Given the description of an element on the screen output the (x, y) to click on. 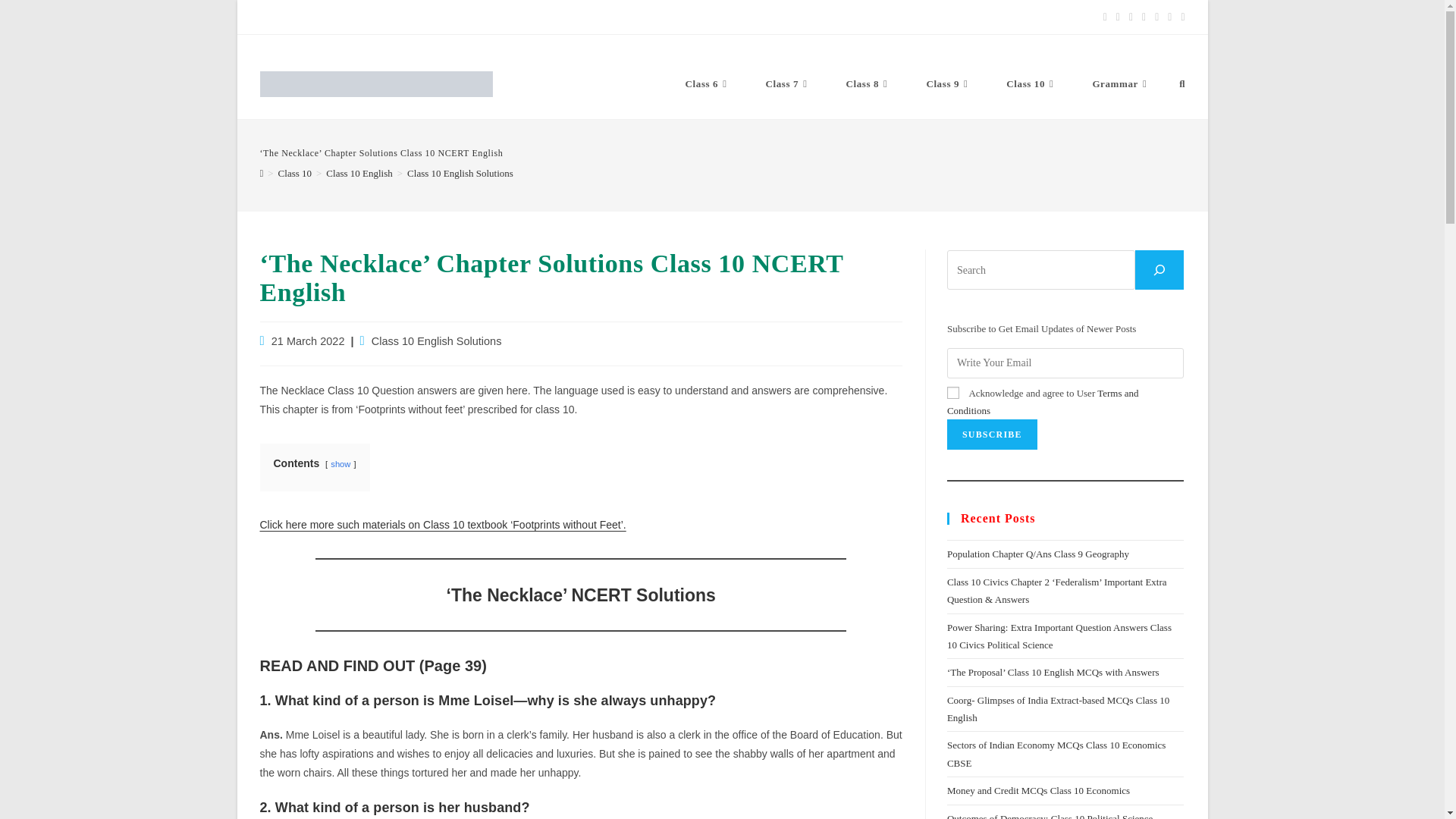
CBSE SQP (381, 16)
Class 10 (1031, 84)
Class 7 (788, 84)
Class 8 (868, 84)
Request Answers (465, 16)
Class 6 (708, 84)
Subscribe (991, 434)
Class 9 (948, 84)
Syllabus 2024-25 (299, 16)
true (953, 392)
